Given the description of an element on the screen output the (x, y) to click on. 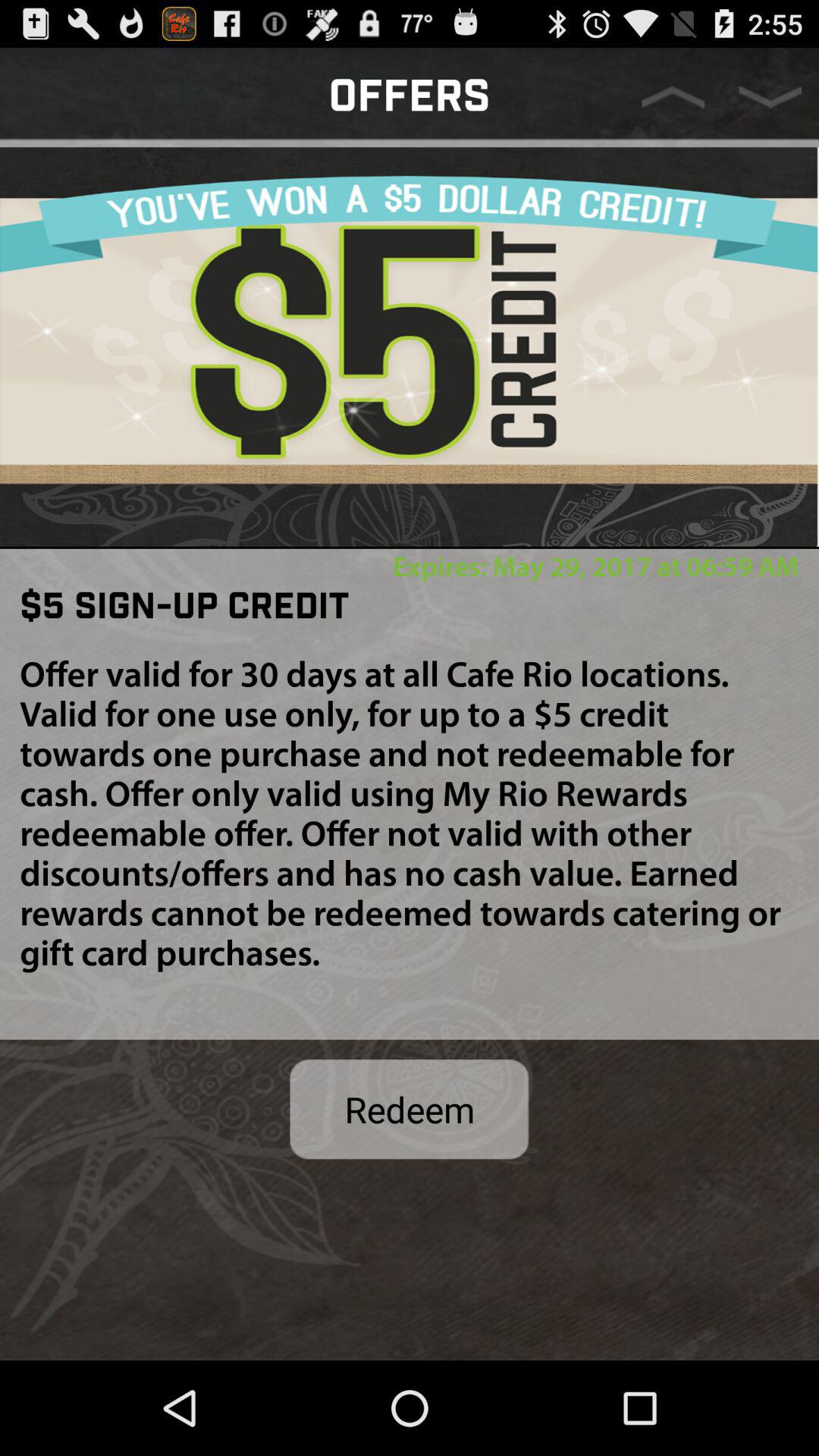
go to previous (672, 96)
